Given the description of an element on the screen output the (x, y) to click on. 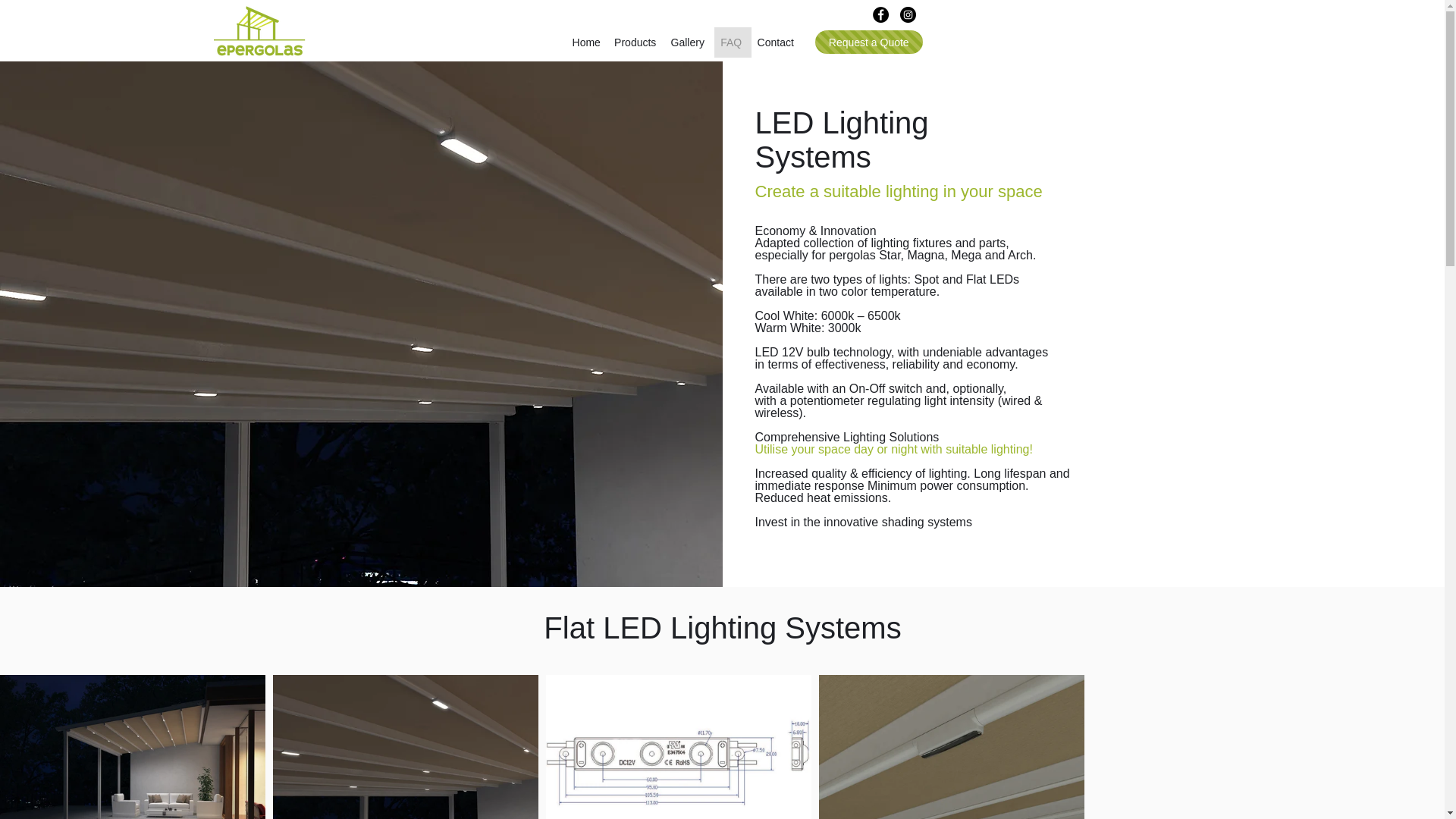
FAQ (732, 42)
Request a Quote (869, 42)
Products (636, 42)
Gallery (688, 42)
Contact (777, 42)
Home (588, 42)
